Given the description of an element on the screen output the (x, y) to click on. 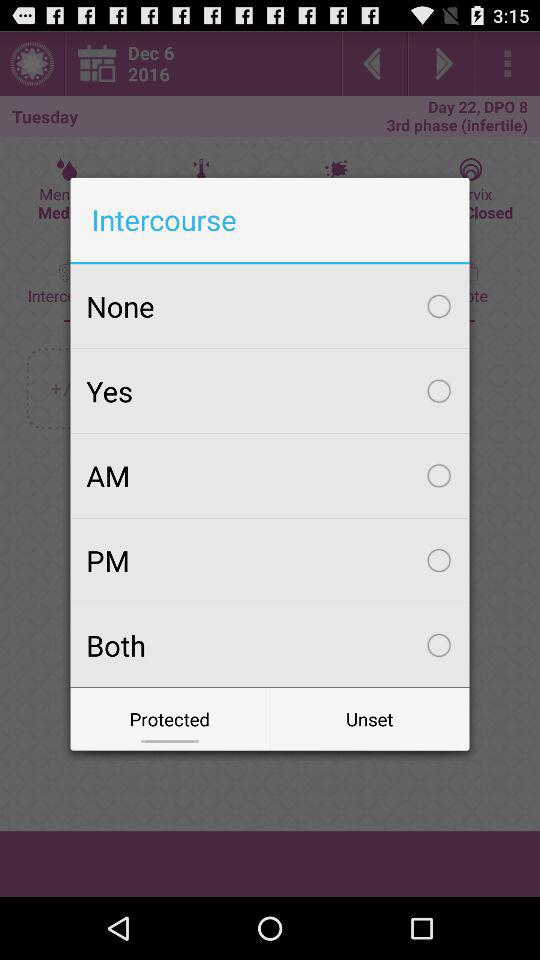
scroll until am item (269, 475)
